Given the description of an element on the screen output the (x, y) to click on. 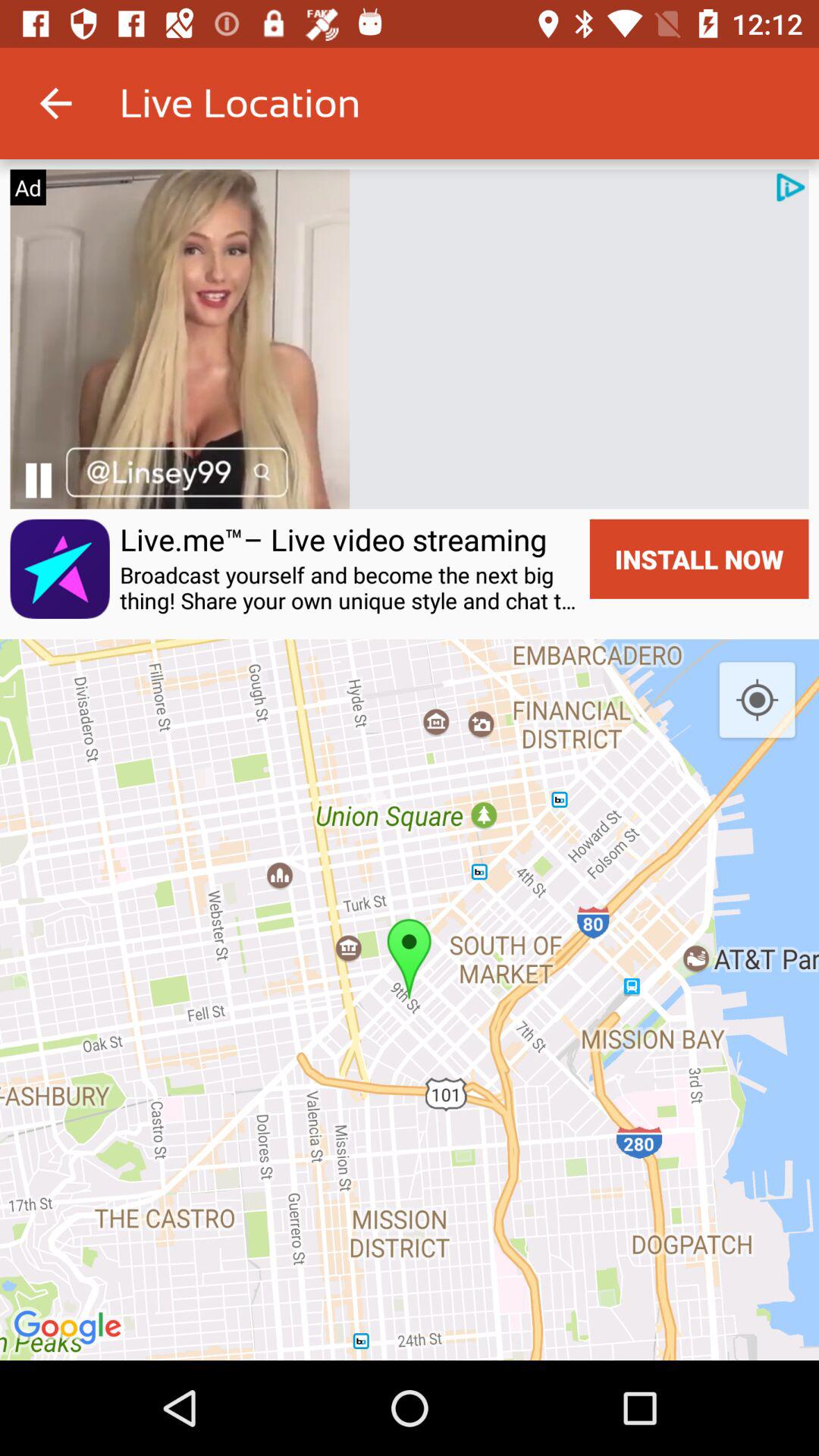
jump until the install now item (698, 558)
